Given the description of an element on the screen output the (x, y) to click on. 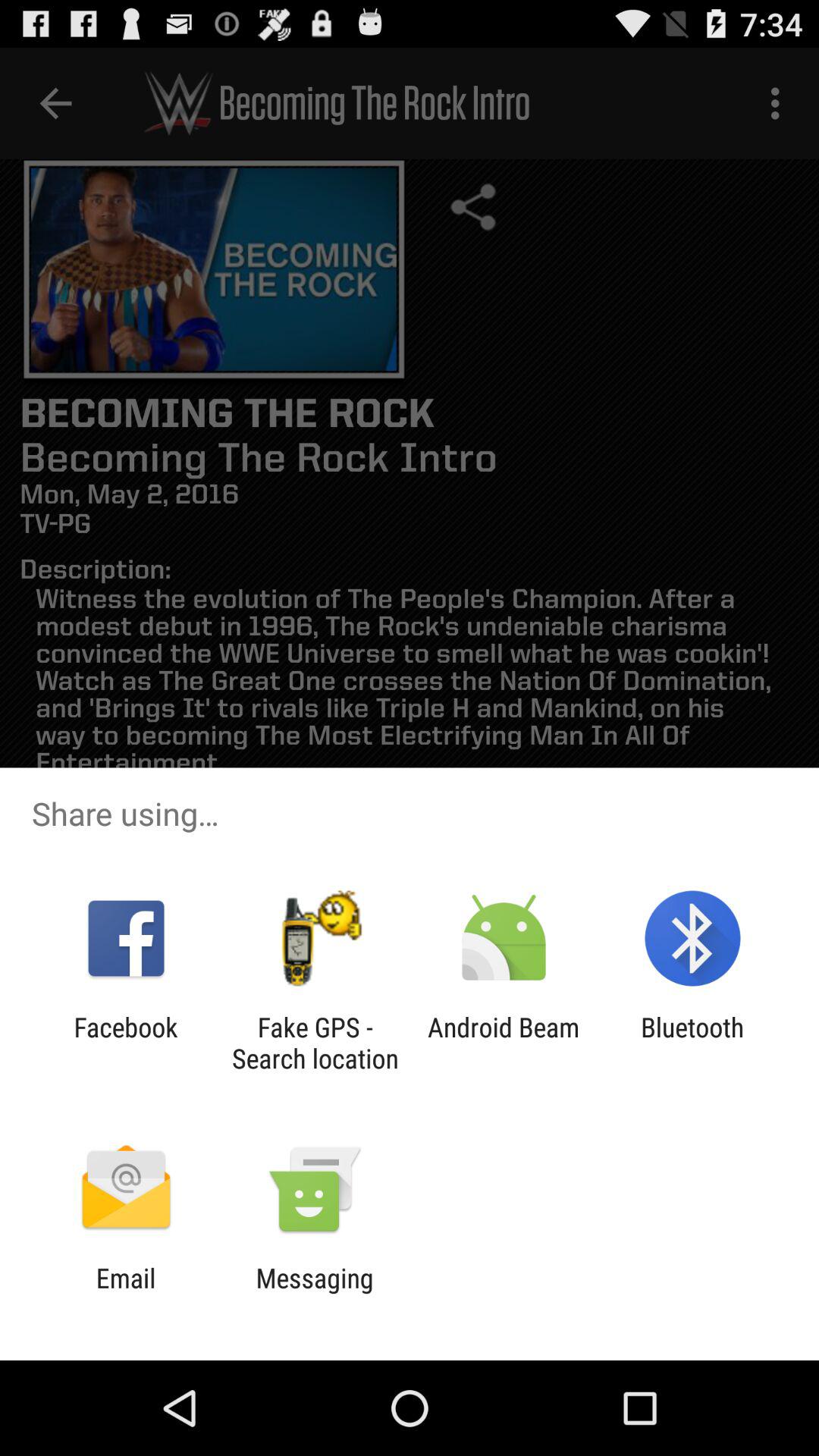
select item next to the android beam icon (314, 1042)
